Given the description of an element on the screen output the (x, y) to click on. 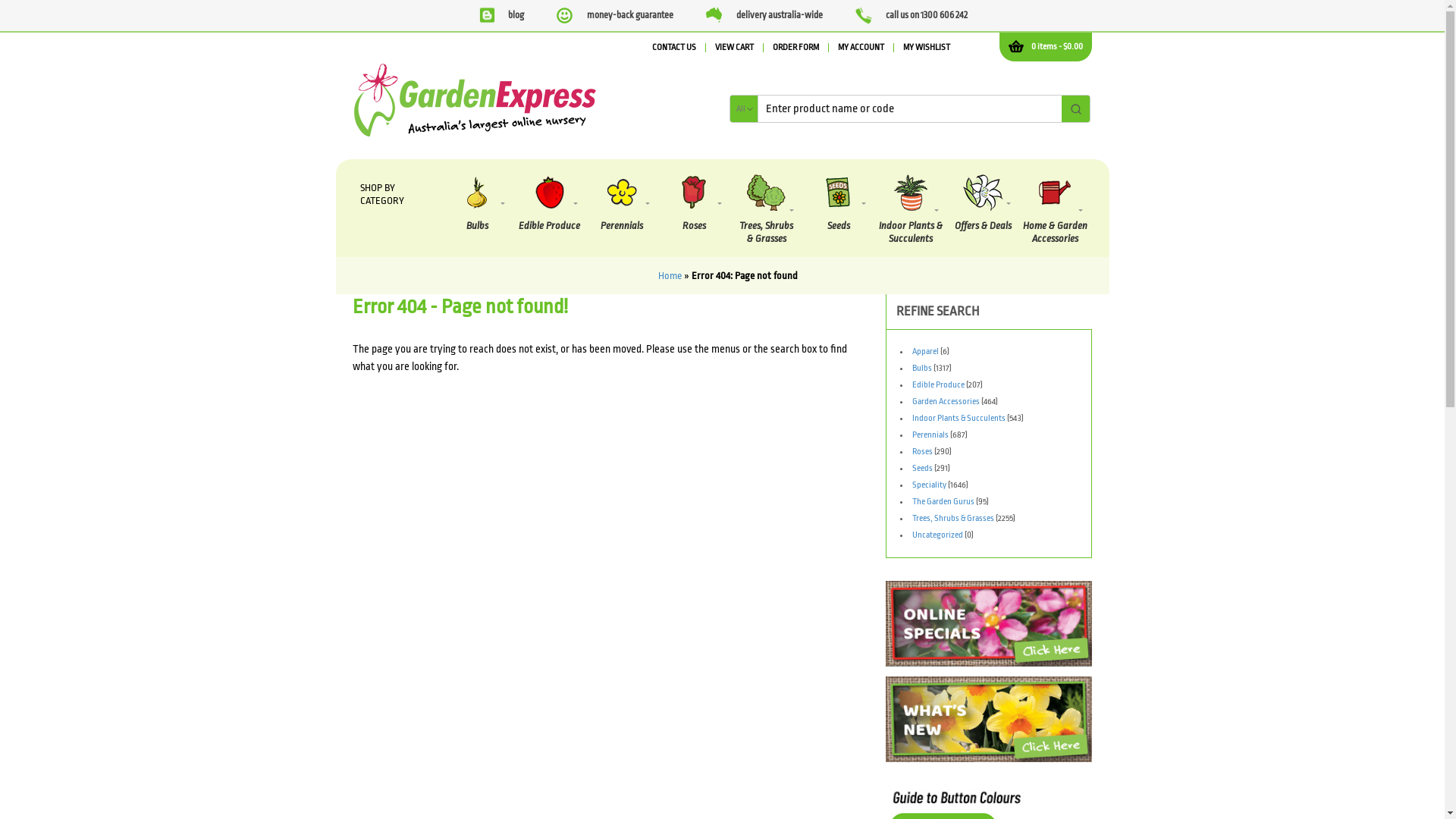
Bulbs Element type: text (921, 368)
blog Element type: text (500, 15)
Perennials Element type: text (621, 203)
Roses Element type: text (694, 203)
VIEW CART Element type: text (734, 47)
Offers & Deals Element type: text (982, 203)
Roses Element type: text (922, 451)
CONTACT US Element type: text (674, 47)
MY WISHLIST Element type: text (926, 47)
Australia's largest online nursery Element type: hover (474, 137)
delivery australia-wide Element type: text (763, 15)
MY ACCOUNT Element type: text (860, 47)
call us on 1300 606 242 Element type: text (911, 15)
Perennials Element type: text (930, 434)
Bulbs Element type: text (477, 203)
Home & Garden Accessories Element type: text (1054, 209)
Edible Produce Element type: text (938, 384)
money-back guarantee Element type: text (614, 15)
Garden Accessories Element type: text (945, 401)
Seeds Element type: text (922, 468)
Home Element type: text (669, 275)
Trees, Shrubs
& Grasses Element type: text (766, 209)
Apparel Element type: text (925, 351)
Speciality Element type: text (929, 484)
Trees, Shrubs & Grasses Element type: text (953, 518)
The Garden Gurus Element type: text (943, 501)
Indoor Plants & Succulents Element type: text (910, 209)
Indoor Plants & Succulents Element type: text (958, 418)
Edible Produce Element type: text (549, 203)
Uncategorized Element type: text (937, 534)
Seeds Element type: text (838, 203)
ORDER FORM Element type: text (795, 47)
